Given the description of an element on the screen output the (x, y) to click on. 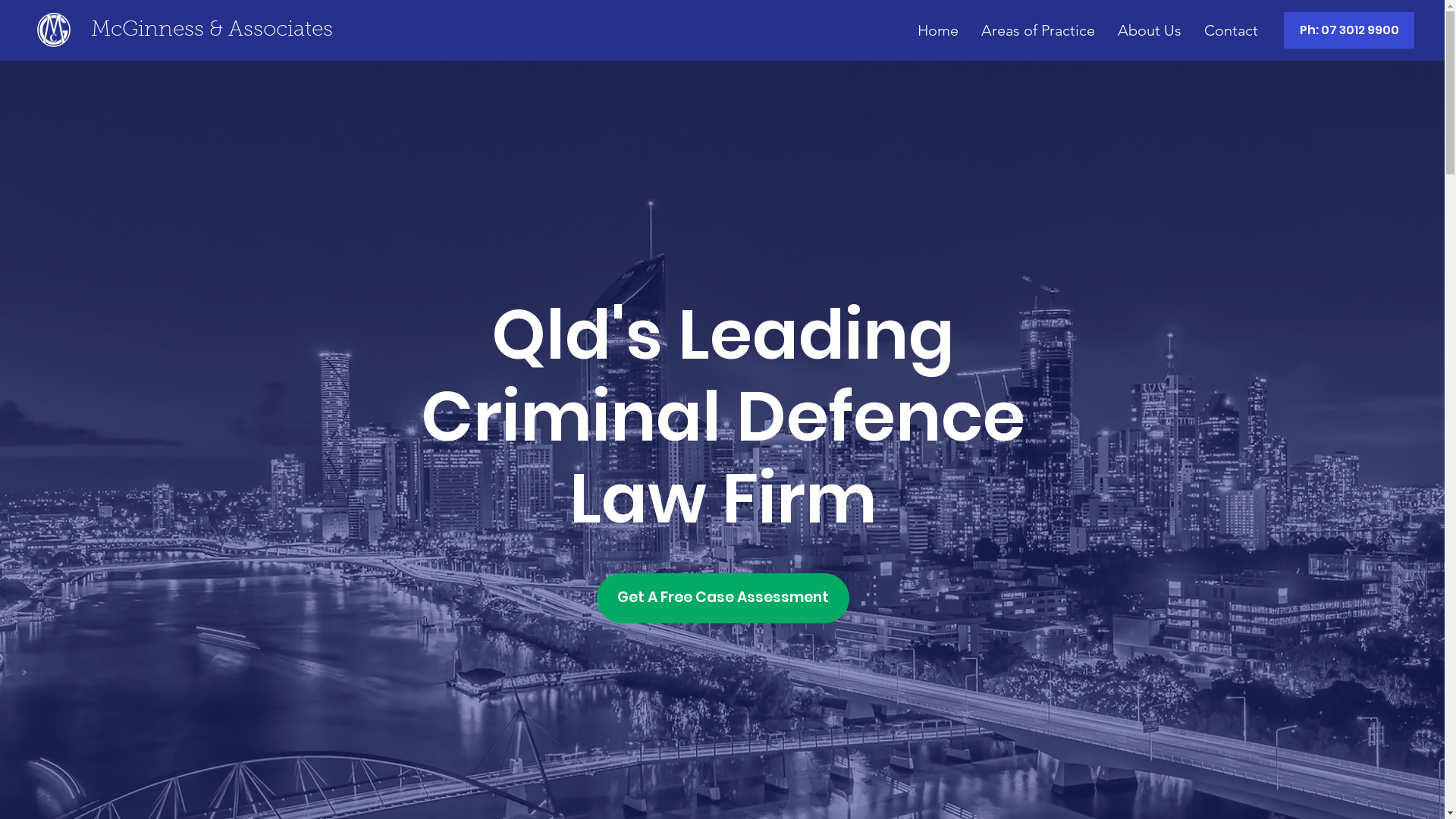
McGinness & Associates Element type: text (211, 29)
Contact Element type: text (1230, 30)
Get A Free Case Assessment Element type: text (722, 598)
About Us Element type: text (1149, 30)
Ph: 07 3012 9900 Element type: text (1348, 30)
Home Element type: text (937, 30)
